Given the description of an element on the screen output the (x, y) to click on. 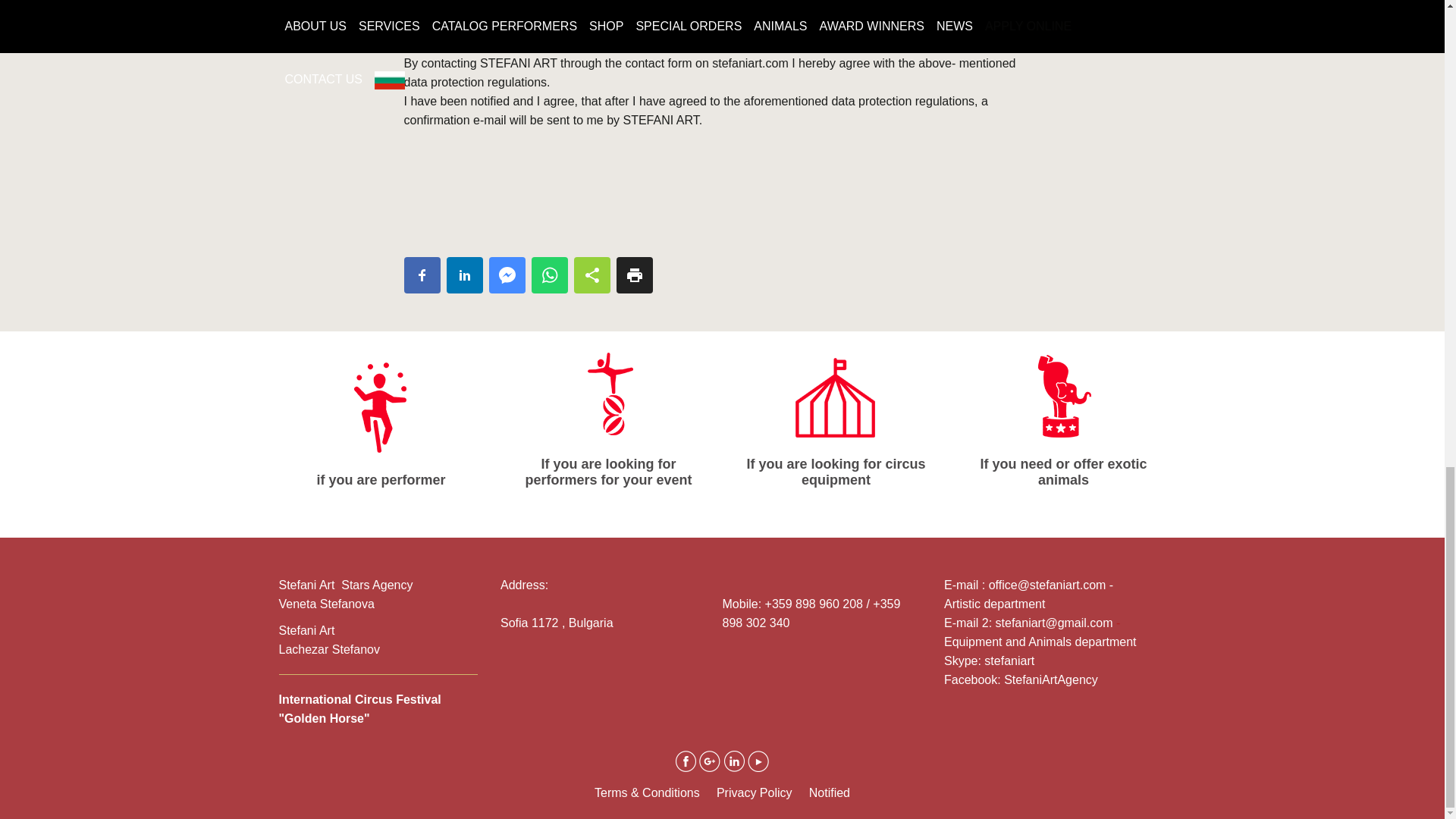
if you are performer (381, 423)
Privacy Policy (754, 792)
Notified (829, 792)
If you are looking for performers for your event (608, 415)
If you are looking for  circus equipment (835, 392)
International Circus Festival "Golden Horse" (360, 708)
